Given the description of an element on the screen output the (x, y) to click on. 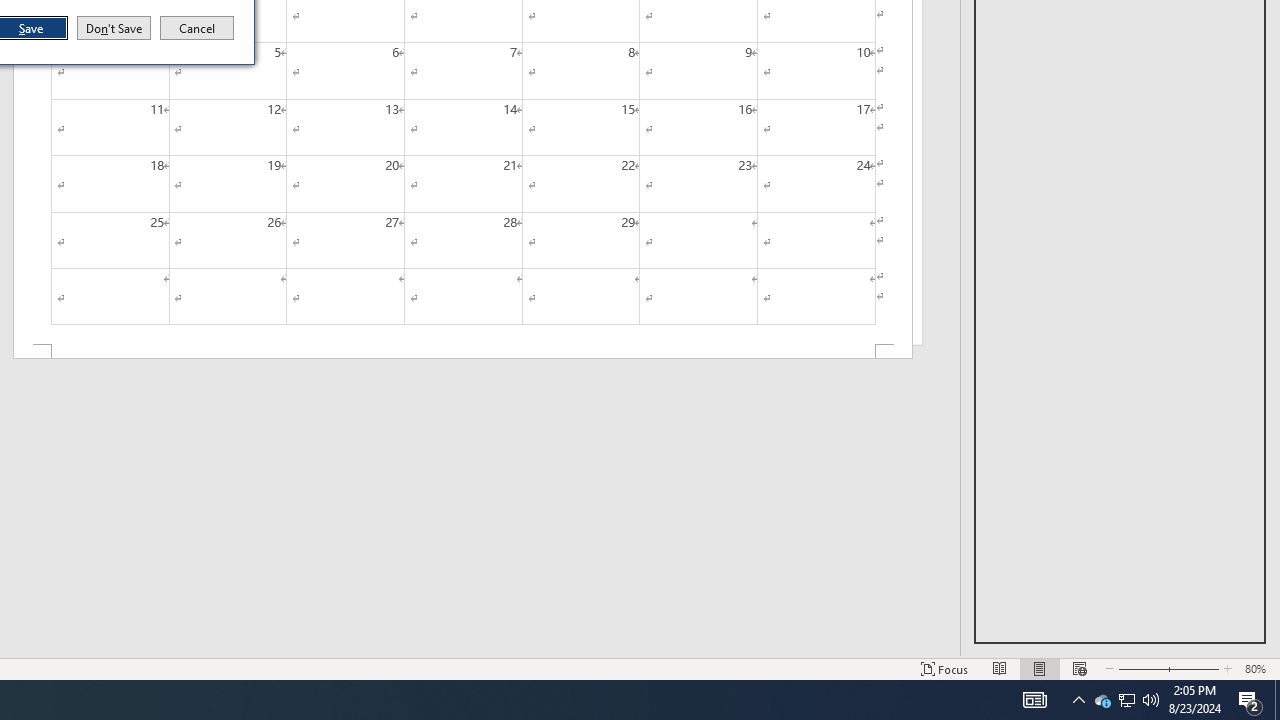
Print Layout (1039, 668)
User Promoted Notification Area (1126, 699)
Read Mode (1000, 668)
Notification Chevron (1078, 699)
AutomationID: 4105 (1034, 699)
Focus  (944, 668)
Zoom Out (1136, 668)
Web Layout (1079, 668)
Cancel (1126, 699)
Q2790: 100% (197, 27)
